Given the description of an element on the screen output the (x, y) to click on. 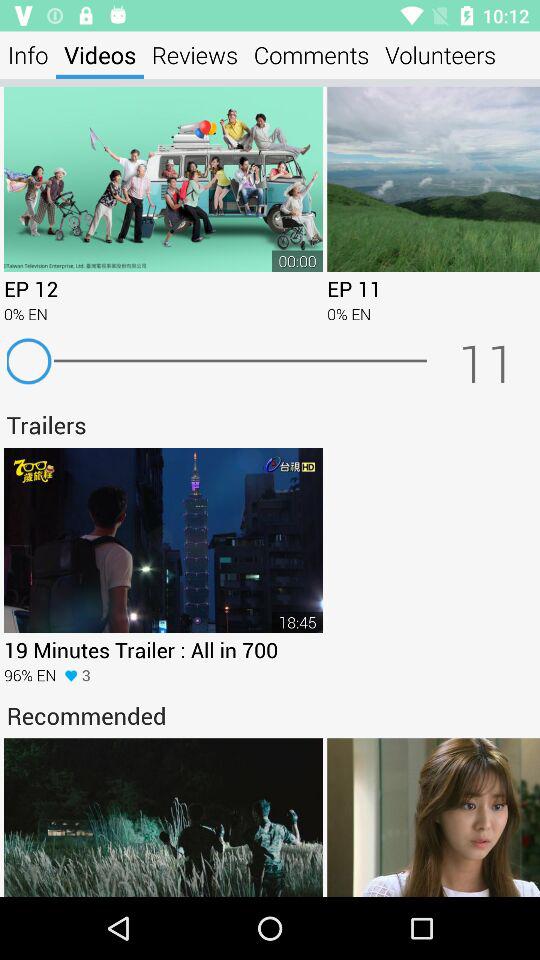
turn off item to the right of videos icon (195, 54)
